Given the description of an element on the screen output the (x, y) to click on. 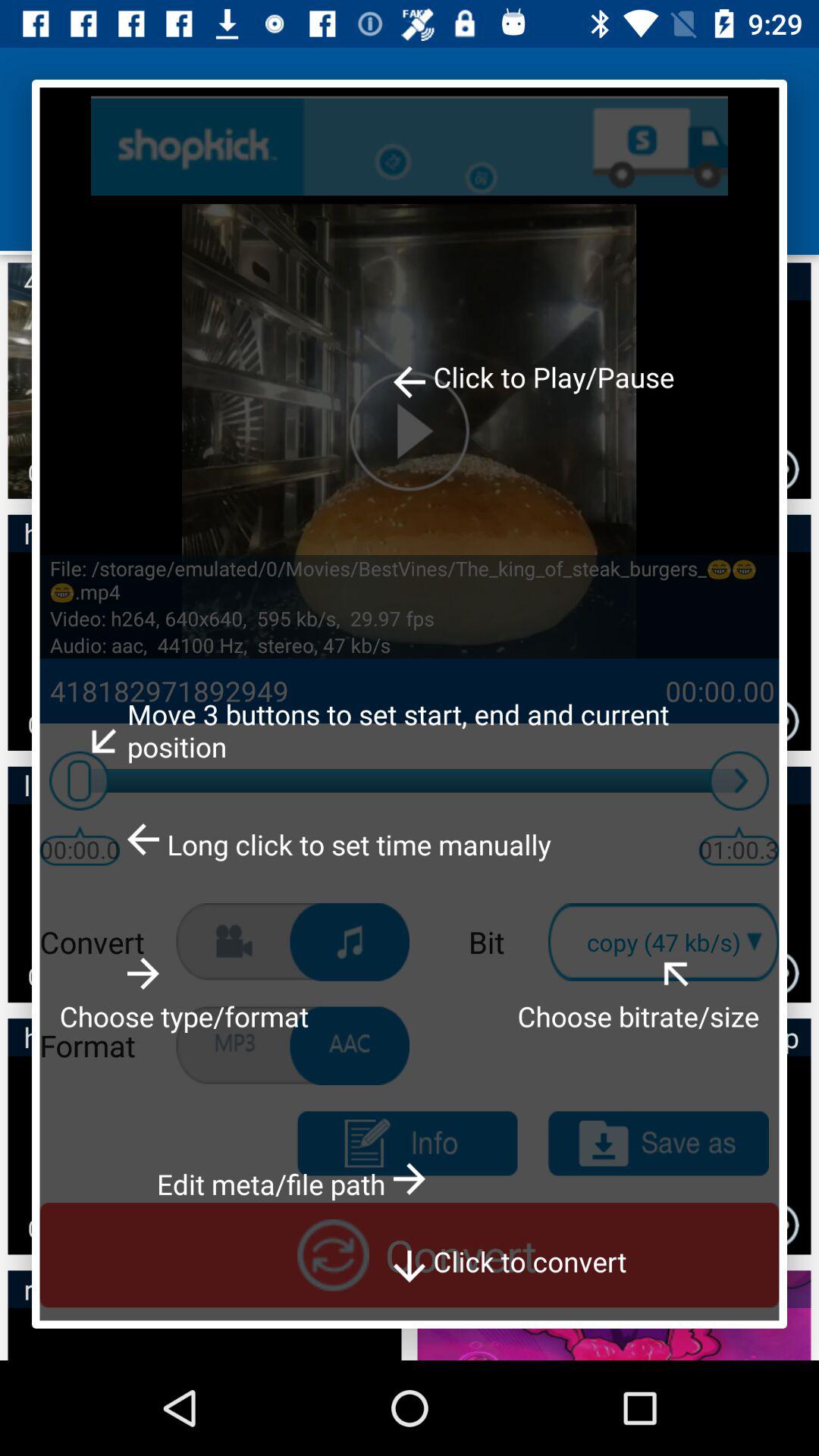
save as (657, 1143)
